Given the description of an element on the screen output the (x, y) to click on. 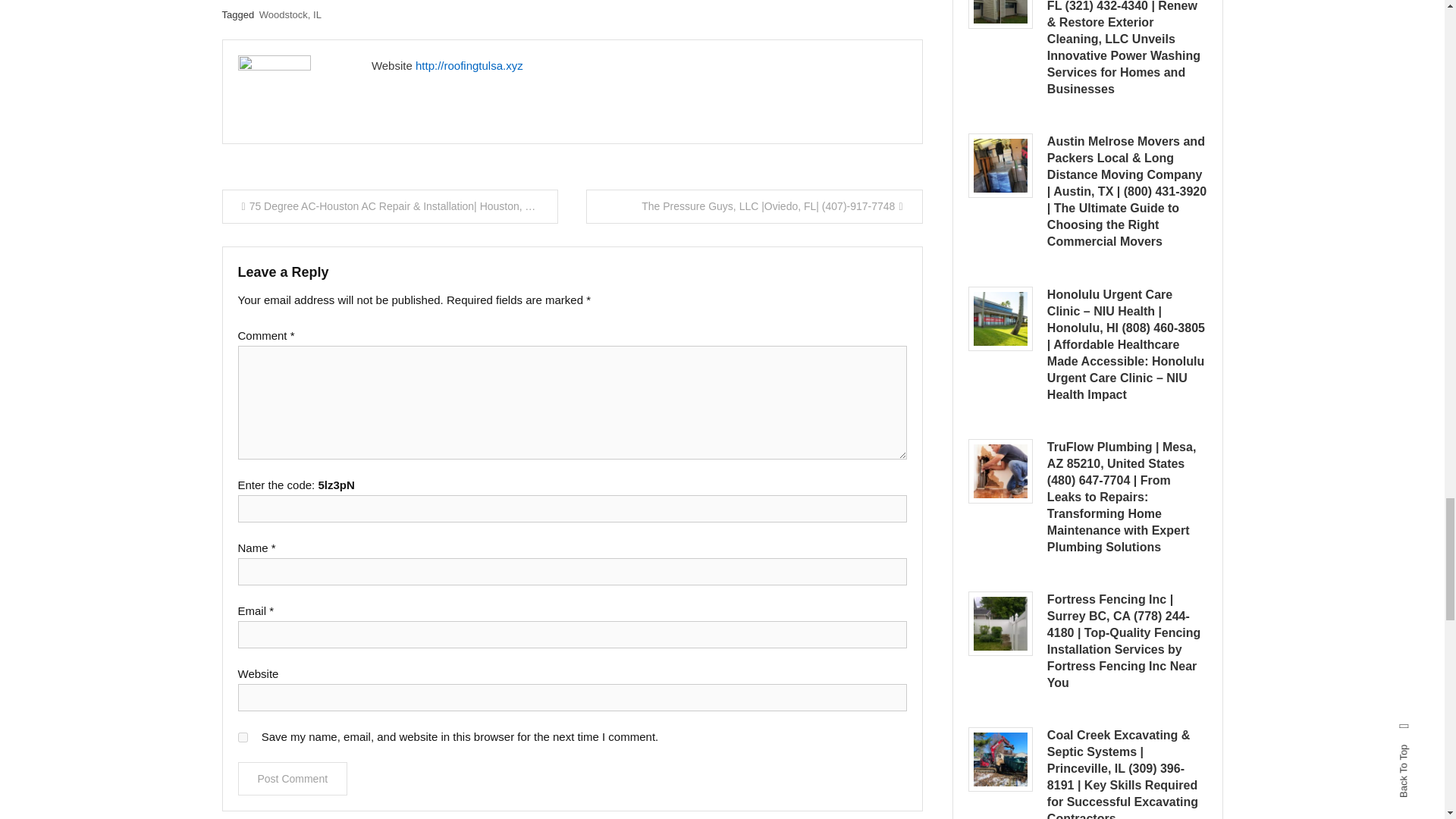
yes (242, 737)
Post Comment (292, 778)
